Given the description of an element on the screen output the (x, y) to click on. 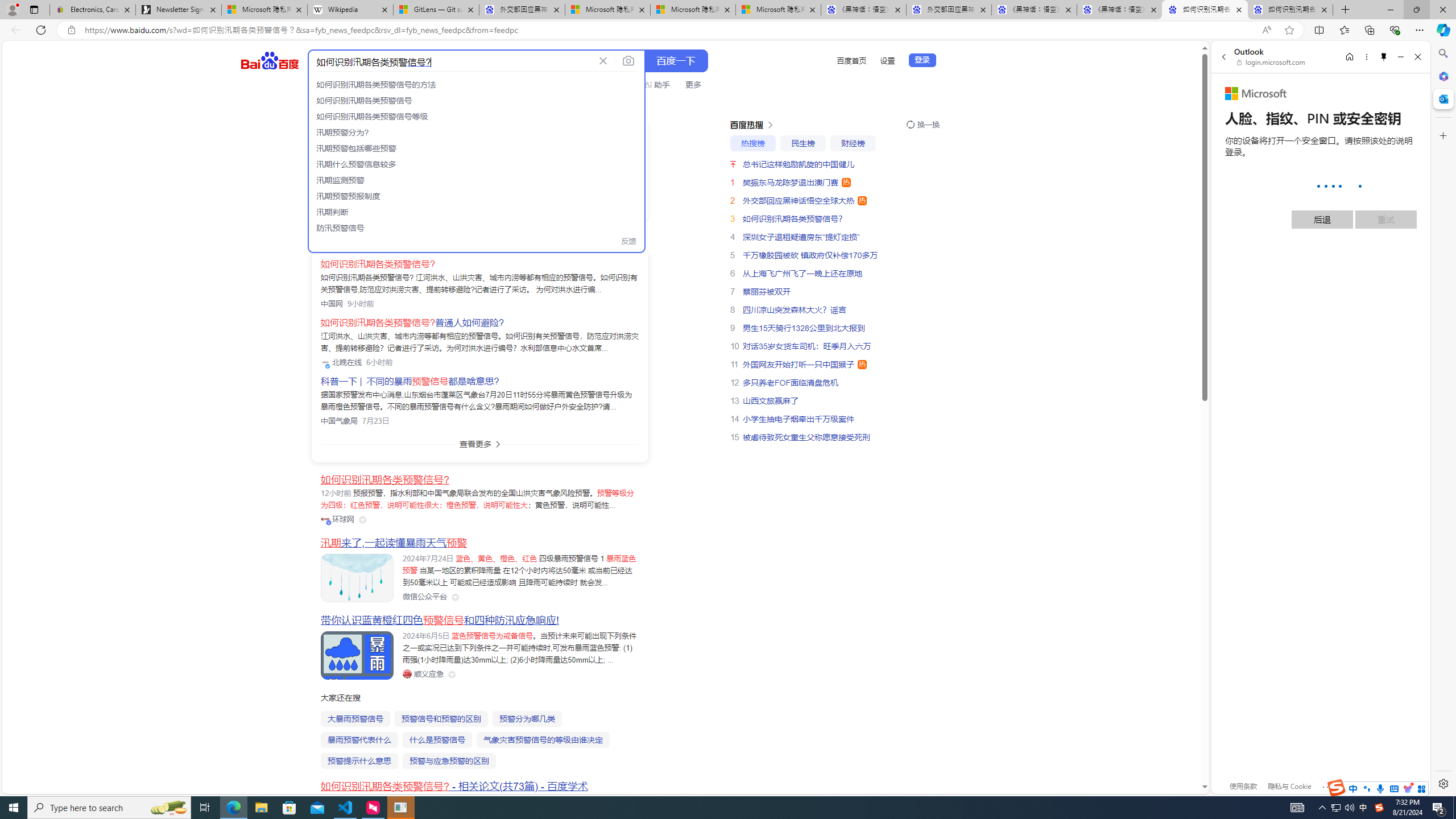
login.microsoft.com (1271, 61)
